Given the description of an element on the screen output the (x, y) to click on. 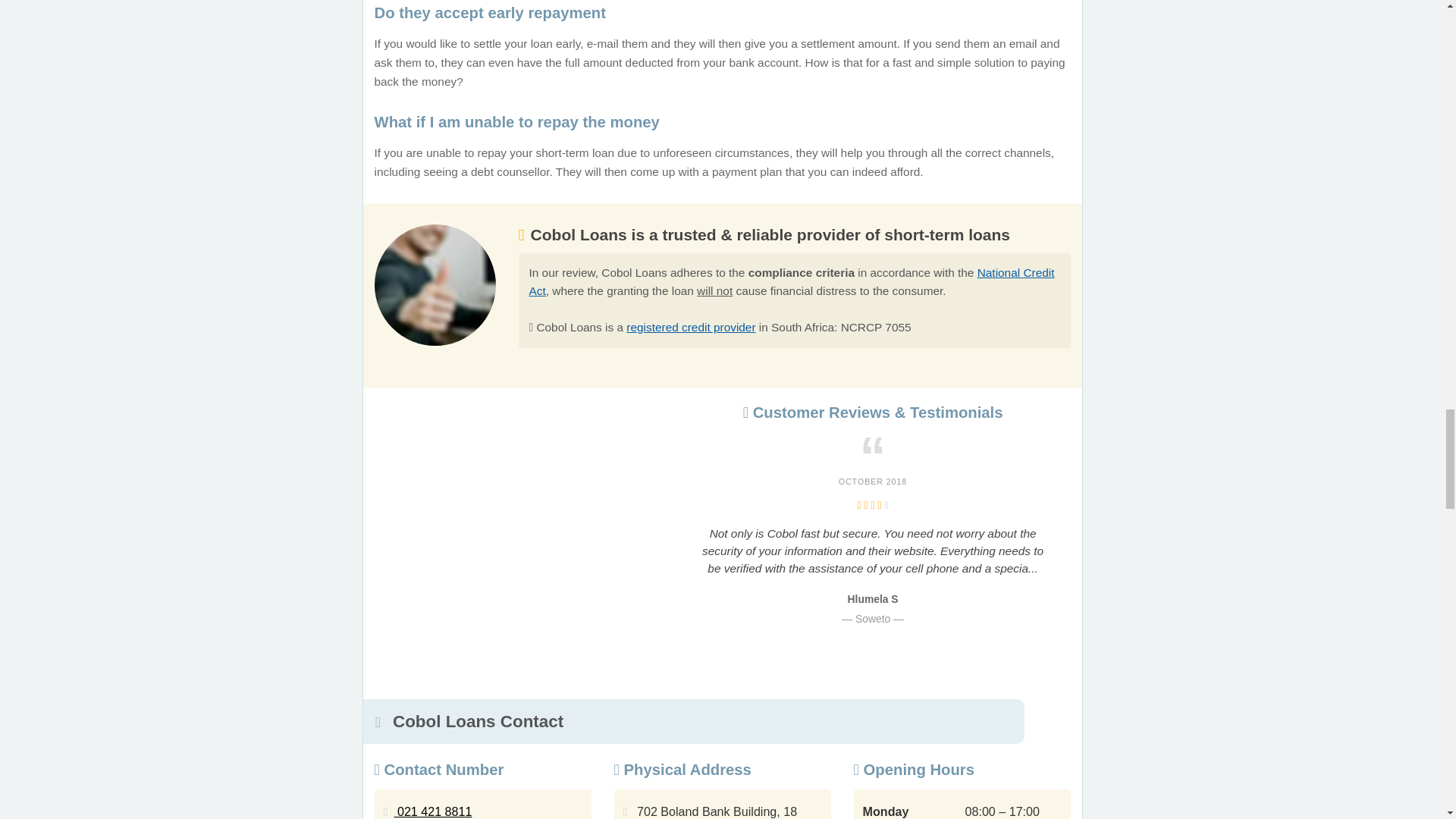
National Credit Act (791, 282)
registered credit provider (690, 327)
021 421 8811 (432, 811)
